Given the description of an element on the screen output the (x, y) to click on. 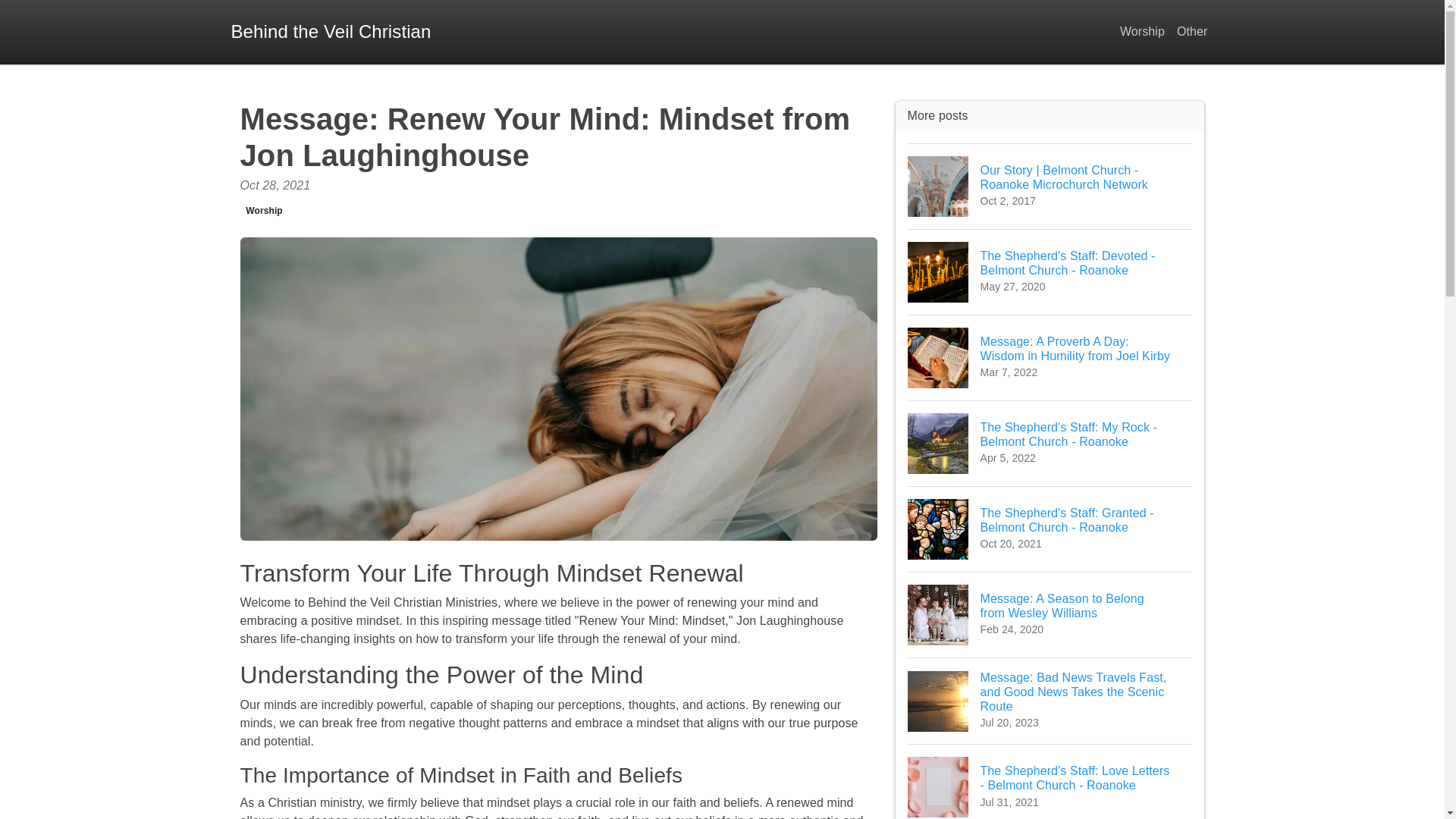
Worship (1141, 32)
Other (1192, 32)
Behind the Veil Christian (330, 31)
Worship (264, 210)
